Given the description of an element on the screen output the (x, y) to click on. 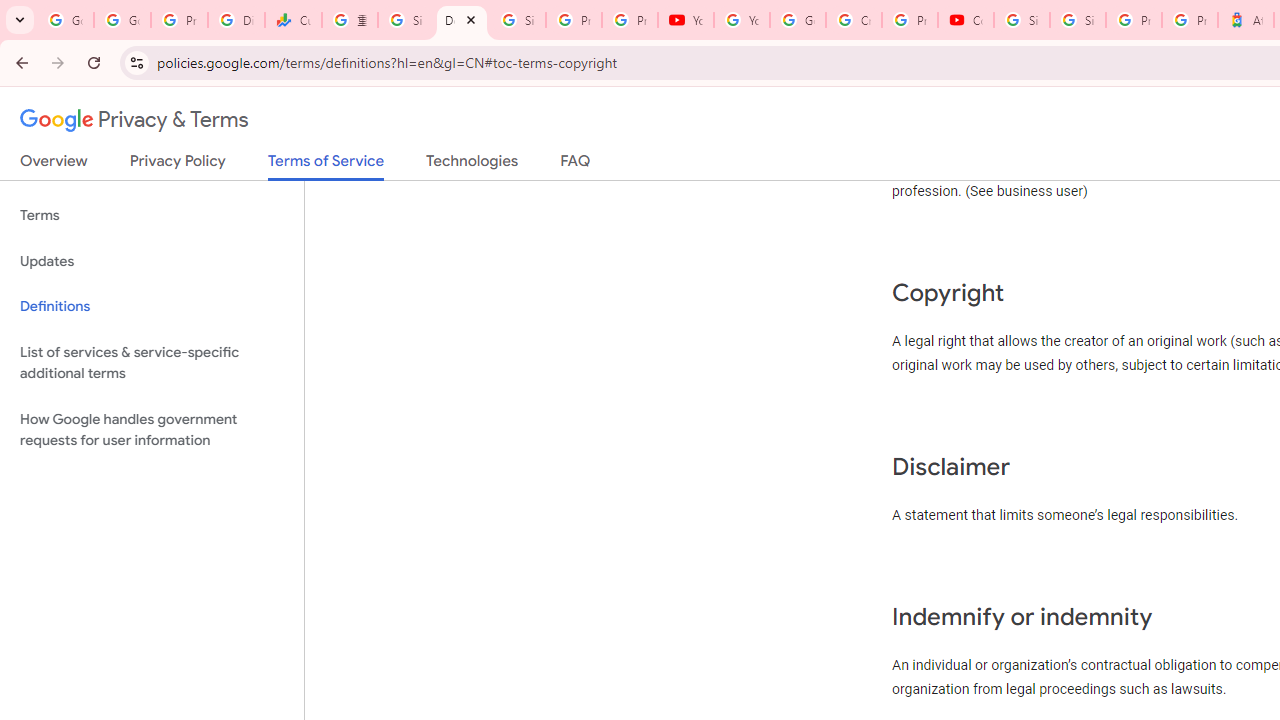
Privacy Checkup (629, 20)
YouTube (742, 20)
Sign in - Google Accounts (1077, 20)
YouTube (685, 20)
Google Account Help (797, 20)
How Google handles government requests for user information (152, 429)
